Given the description of an element on the screen output the (x, y) to click on. 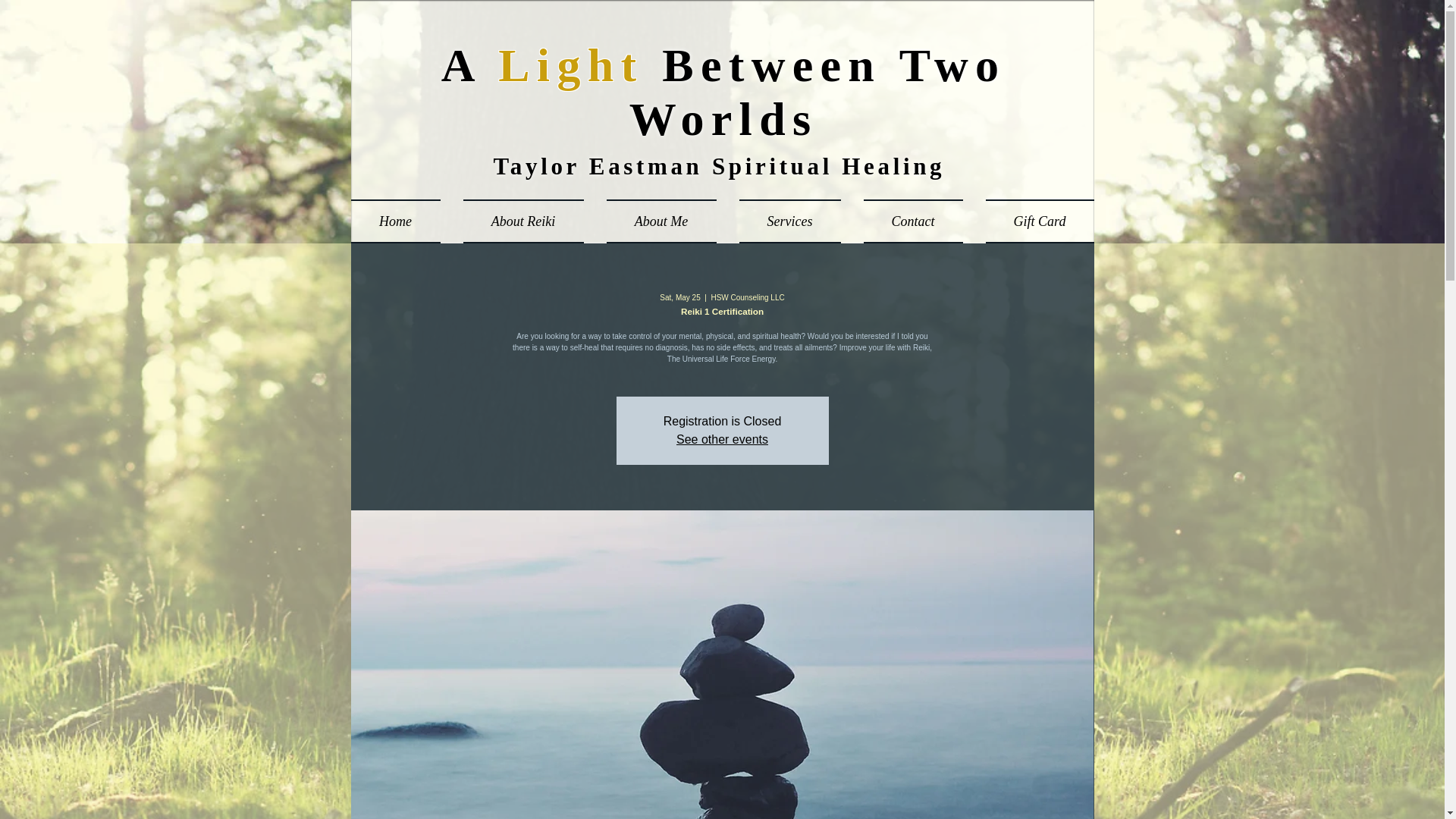
About Me (660, 221)
Gift Card (1033, 221)
Home (400, 221)
See other events (722, 439)
Services (789, 221)
Contact (912, 221)
About Reiki (523, 221)
Taylor Eastman  (602, 166)
